Given the description of an element on the screen output the (x, y) to click on. 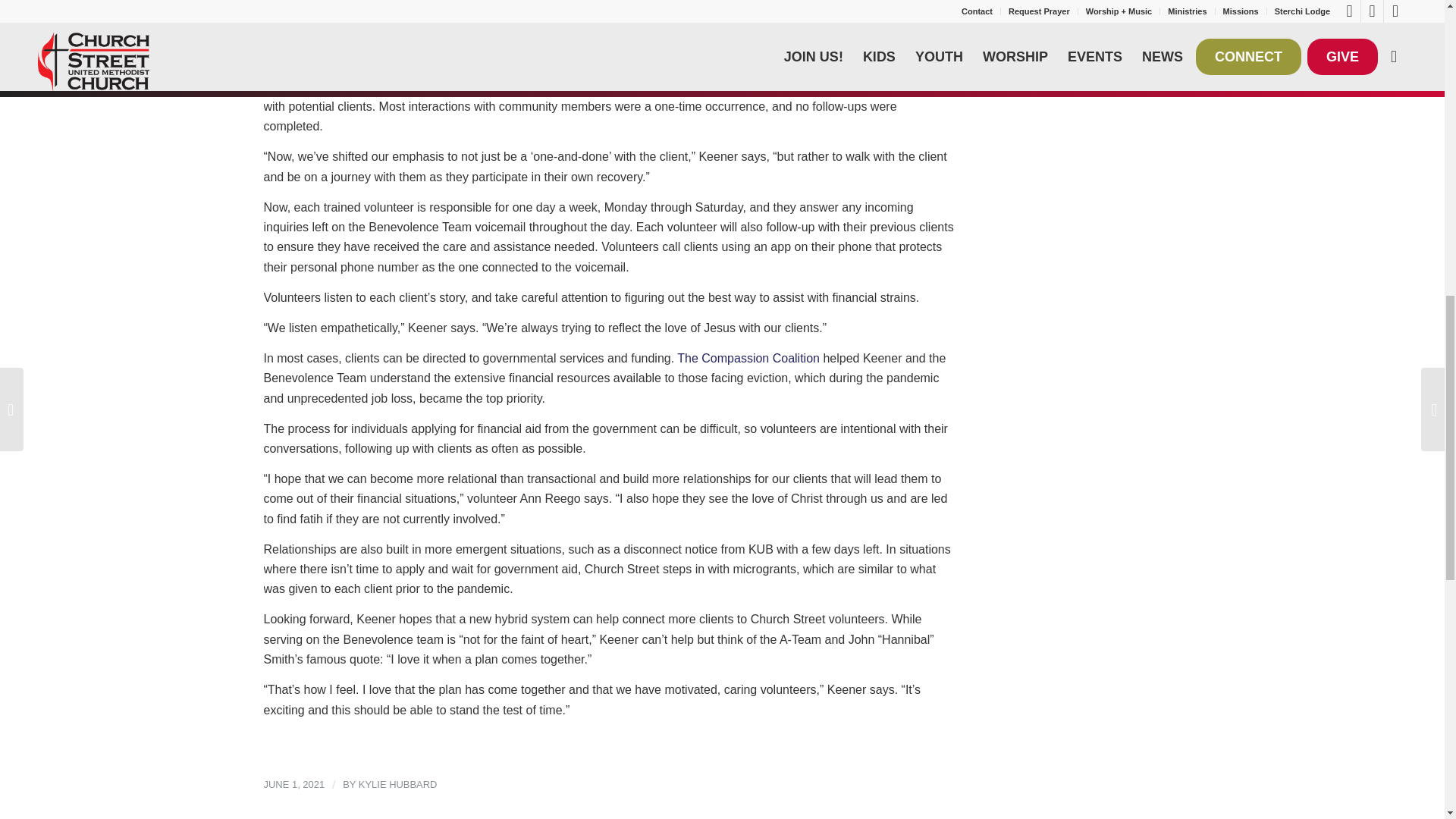
Posts by Kylie Hubbard (398, 784)
